Given the description of an element on the screen output the (x, y) to click on. 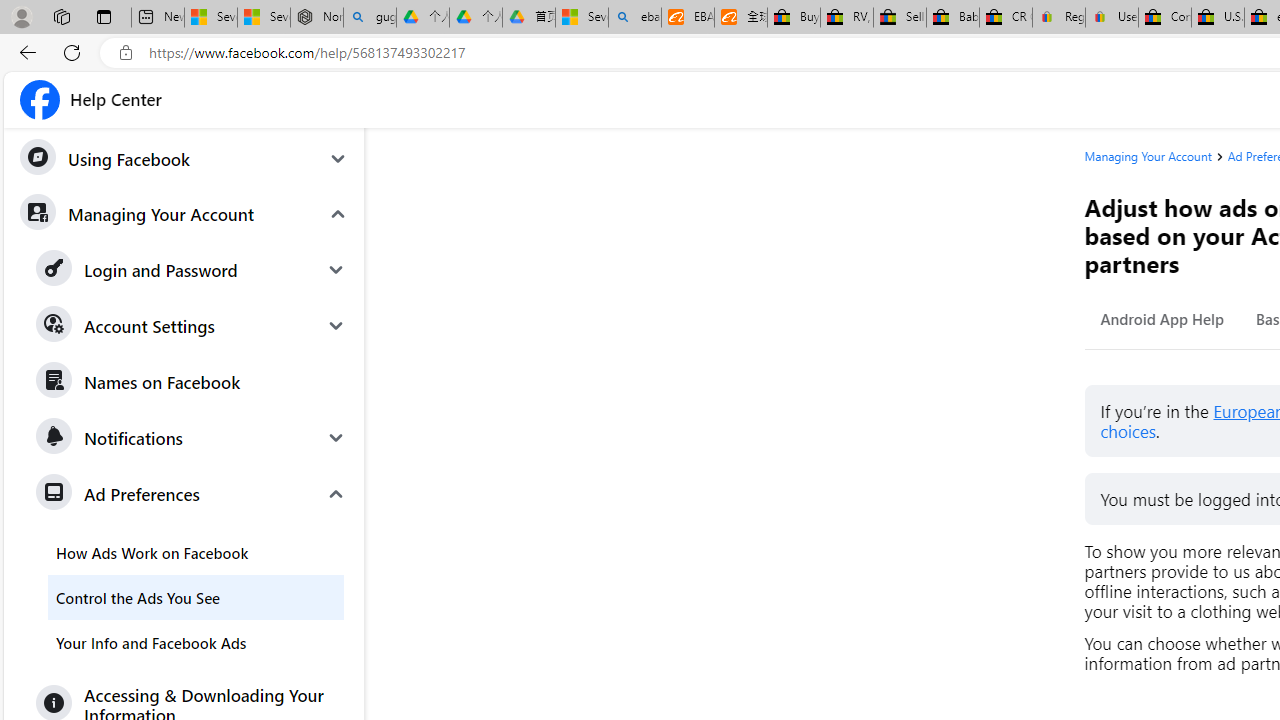
How Ads Work on Facebook (196, 552)
Android App Help (1162, 318)
Names on Facebook (191, 381)
Your Info and Facebook Ads (195, 642)
Consumer Health Data Privacy Policy - eBay Inc. (1165, 17)
How Ads Work on Facebook (195, 552)
Expand (335, 493)
Class: x1lliihq x1tzjh5l x1k90msu x2h7rmj x1qfuztq x19dipnz (40, 99)
Login and Password Expand (191, 269)
Ad Preferences (191, 493)
Account Settings (191, 326)
